Given the description of an element on the screen output the (x, y) to click on. 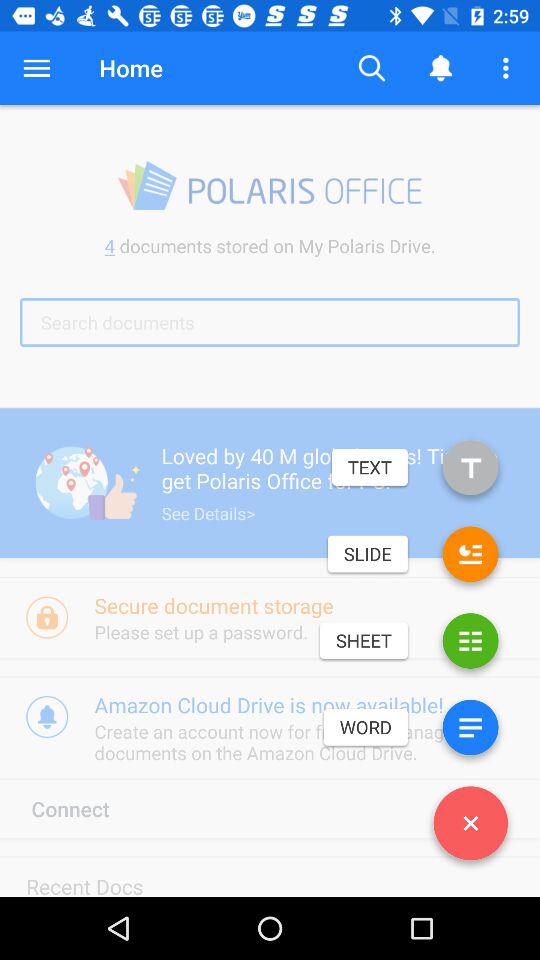
choose icon next to connect item (470, 827)
